Given the description of an element on the screen output the (x, y) to click on. 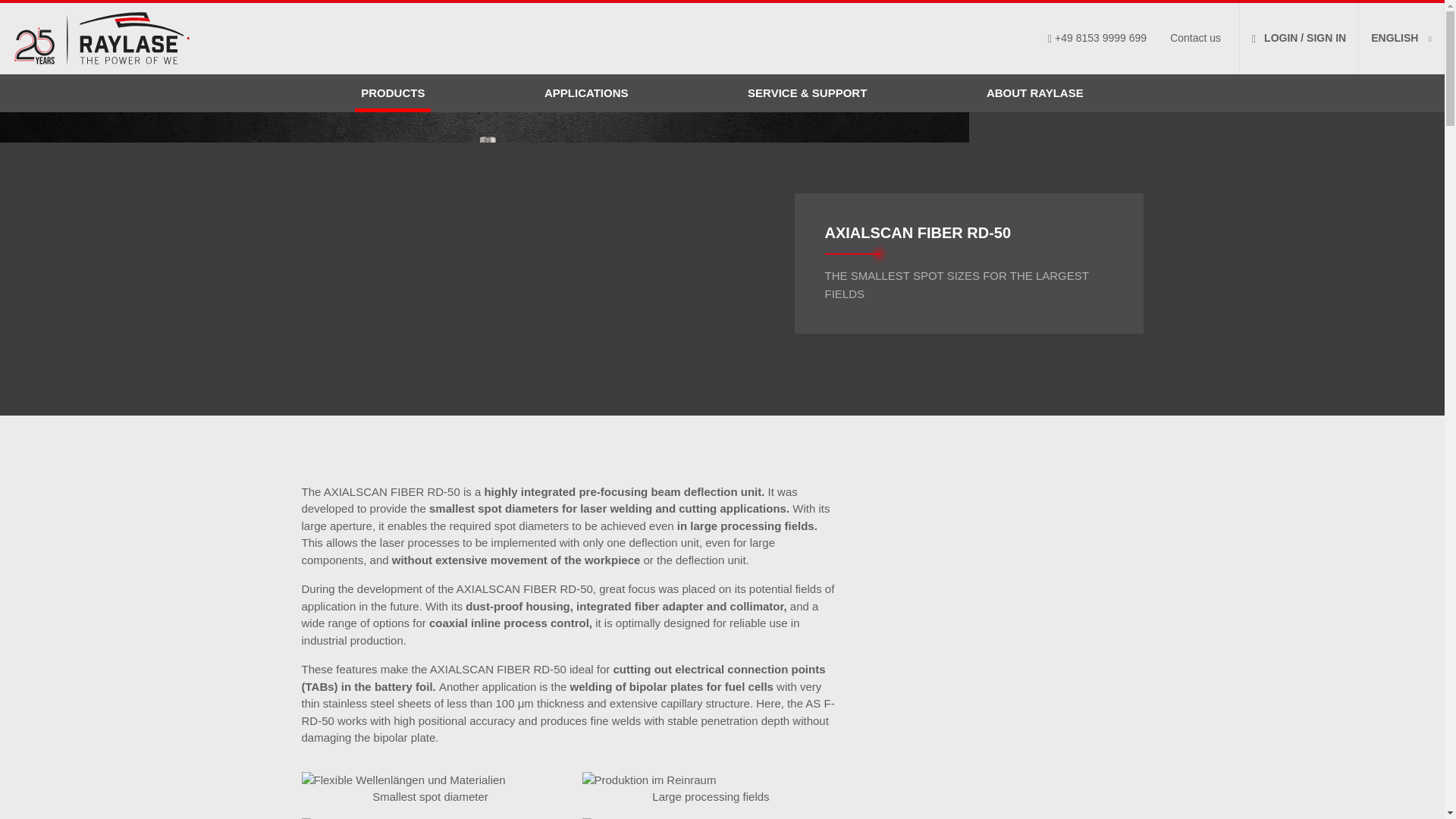
PRODUCTS (392, 93)
Contact us (1195, 37)
